Given the description of an element on the screen output the (x, y) to click on. 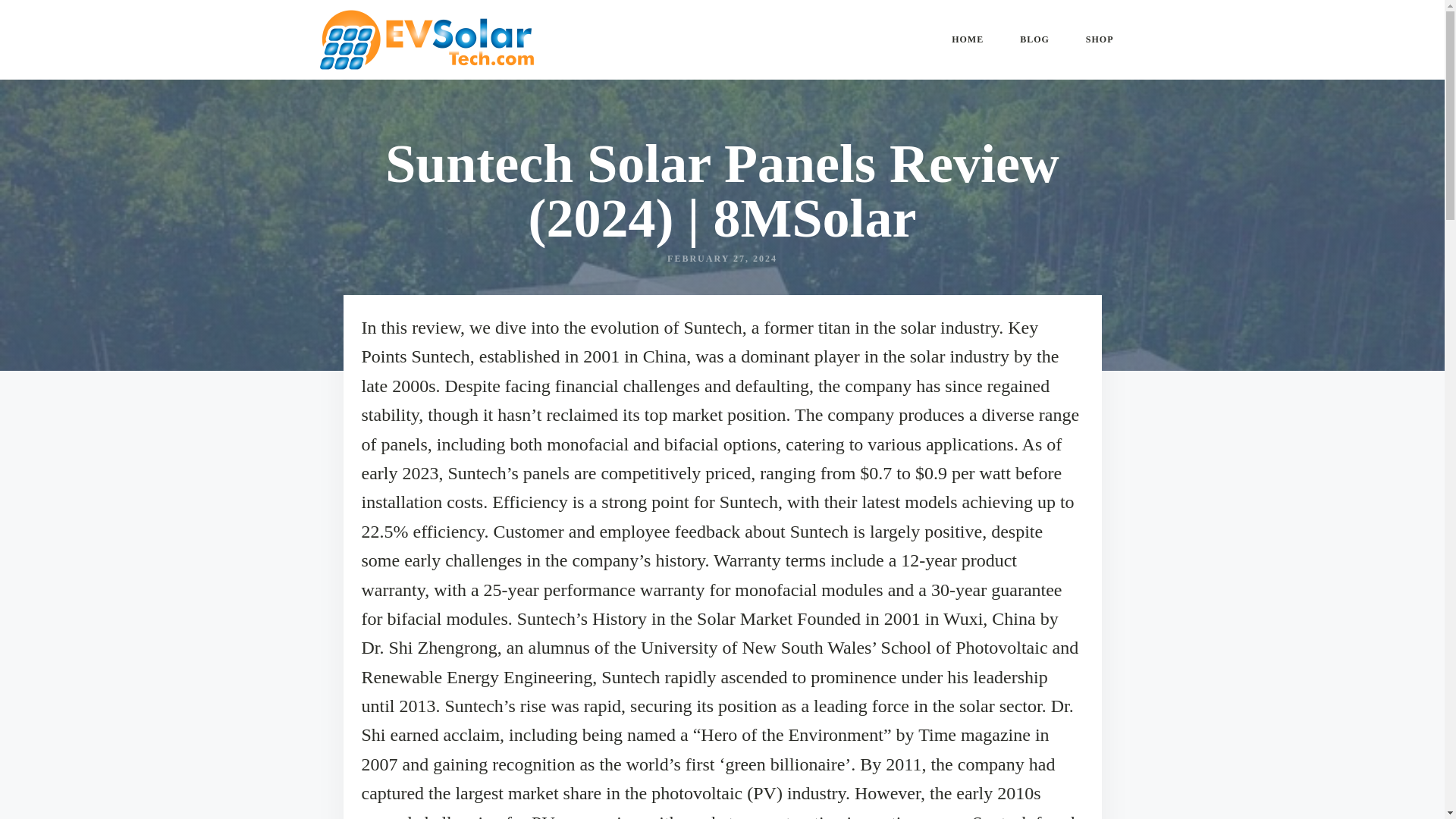
HOME (967, 39)
SHOP (1099, 39)
BLOG (1034, 39)
